Given the description of an element on the screen output the (x, y) to click on. 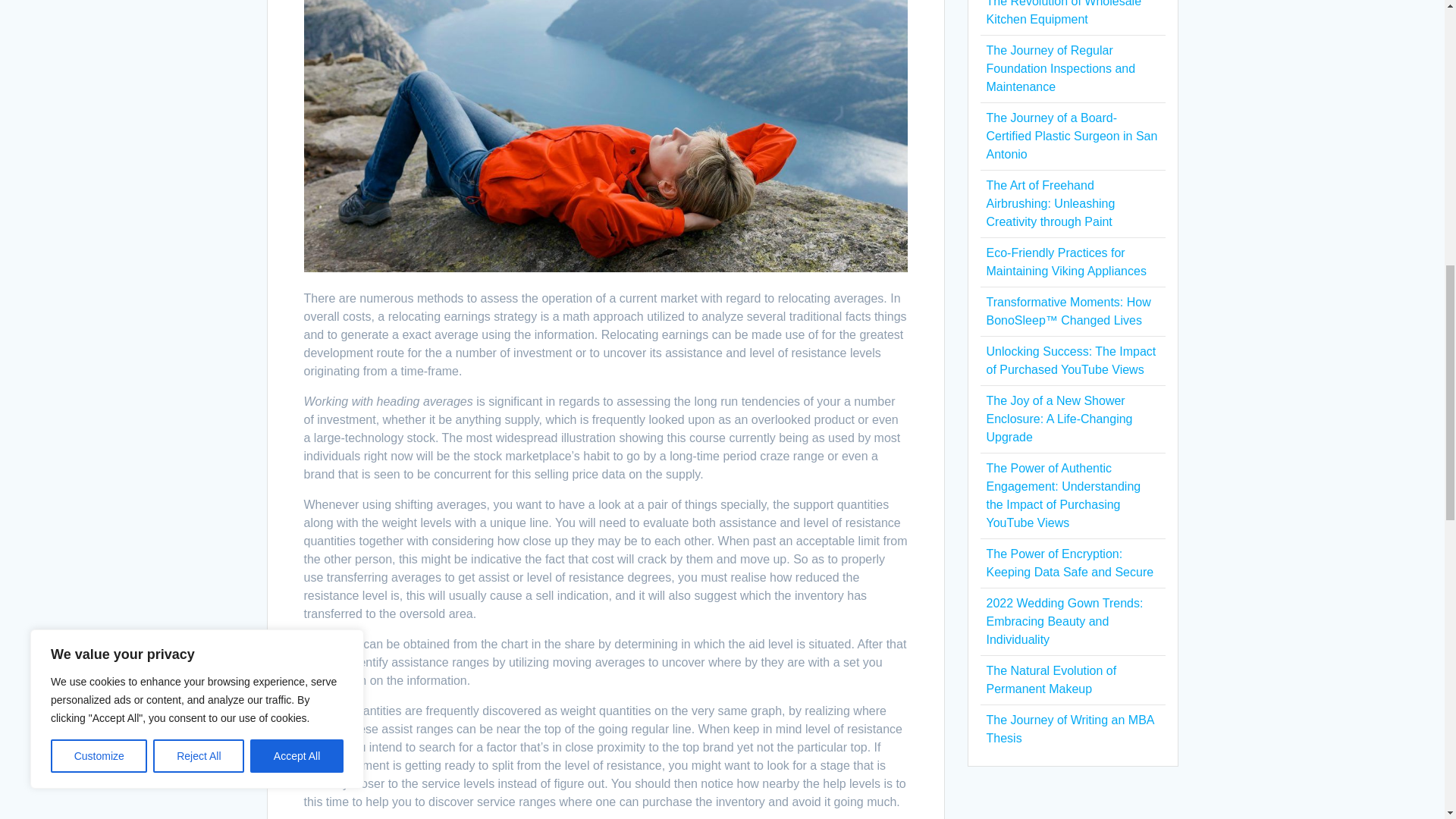
Eco-Friendly Practices for Maintaining Viking Appliances (1065, 261)
The Revolution of Wholesale Kitchen Equipment (1063, 12)
